Given the description of an element on the screen output the (x, y) to click on. 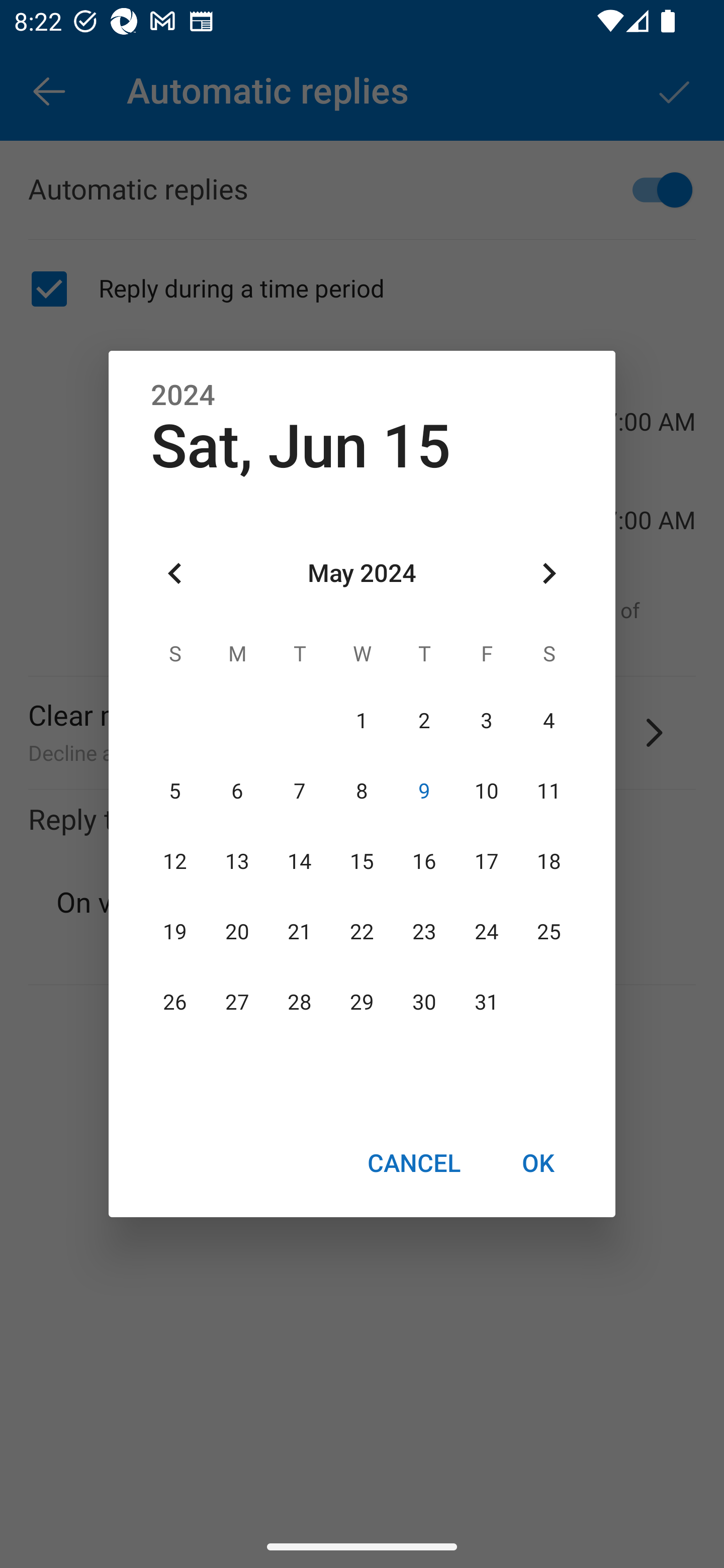
2024 (182, 395)
Sat, Jun 15 (300, 446)
Previous month (174, 573)
Next month (548, 573)
1 01 May 2024 (361, 720)
2 02 May 2024 (424, 720)
3 03 May 2024 (486, 720)
4 04 May 2024 (548, 720)
5 05 May 2024 (175, 790)
6 06 May 2024 (237, 790)
7 07 May 2024 (299, 790)
8 08 May 2024 (361, 790)
9 09 May 2024 (424, 790)
10 10 May 2024 (486, 790)
11 11 May 2024 (548, 790)
12 12 May 2024 (175, 861)
13 13 May 2024 (237, 861)
14 14 May 2024 (299, 861)
15 15 May 2024 (361, 861)
16 16 May 2024 (424, 861)
17 17 May 2024 (486, 861)
18 18 May 2024 (548, 861)
19 19 May 2024 (175, 931)
20 20 May 2024 (237, 931)
21 21 May 2024 (299, 931)
22 22 May 2024 (361, 931)
23 23 May 2024 (424, 931)
24 24 May 2024 (486, 931)
25 25 May 2024 (548, 931)
26 26 May 2024 (175, 1002)
27 27 May 2024 (237, 1002)
28 28 May 2024 (299, 1002)
29 29 May 2024 (361, 1002)
30 30 May 2024 (424, 1002)
31 31 May 2024 (486, 1002)
CANCEL (413, 1162)
OK (537, 1162)
